Given the description of an element on the screen output the (x, y) to click on. 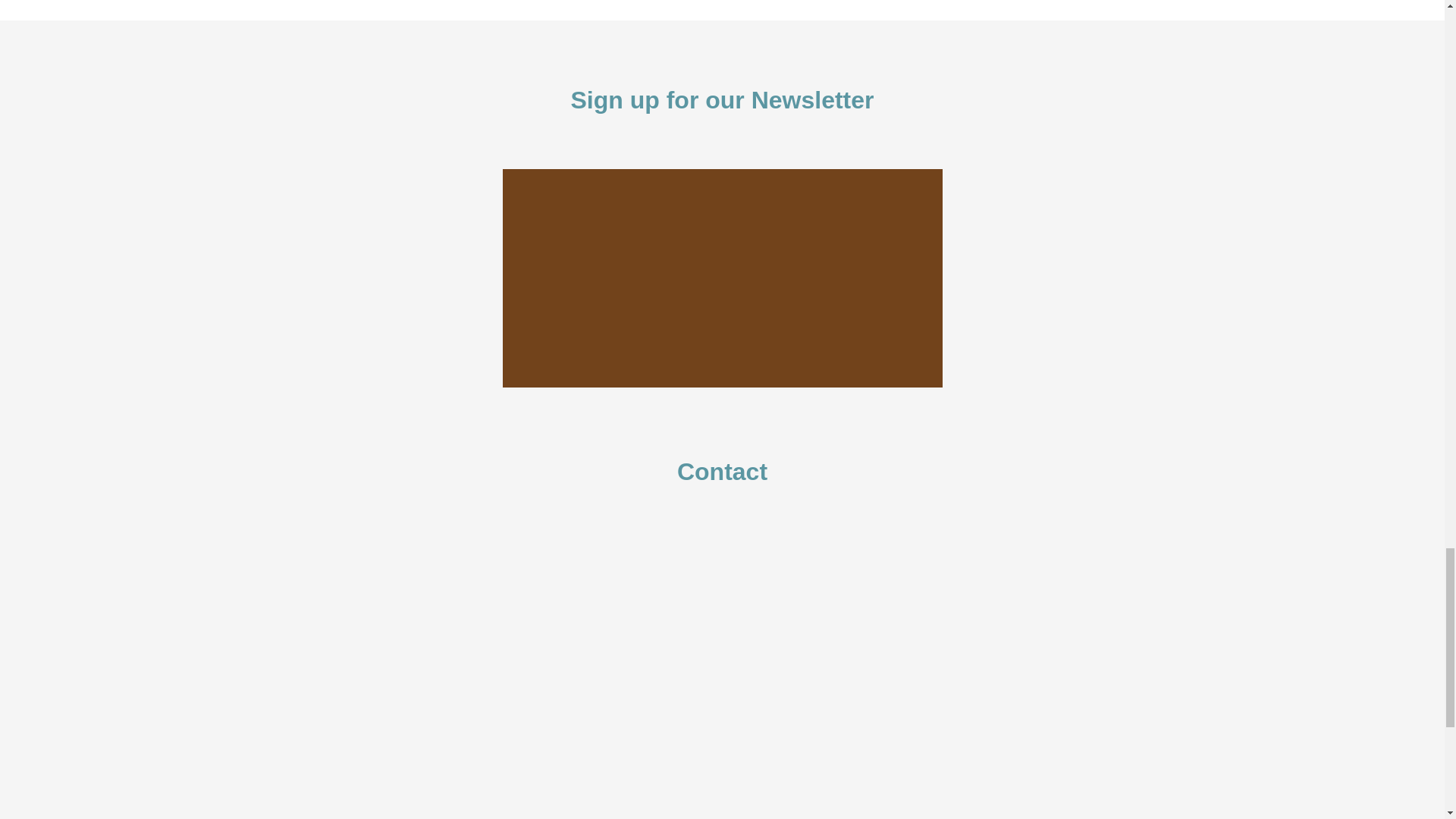
Form 0 (721, 278)
